Given the description of an element on the screen output the (x, y) to click on. 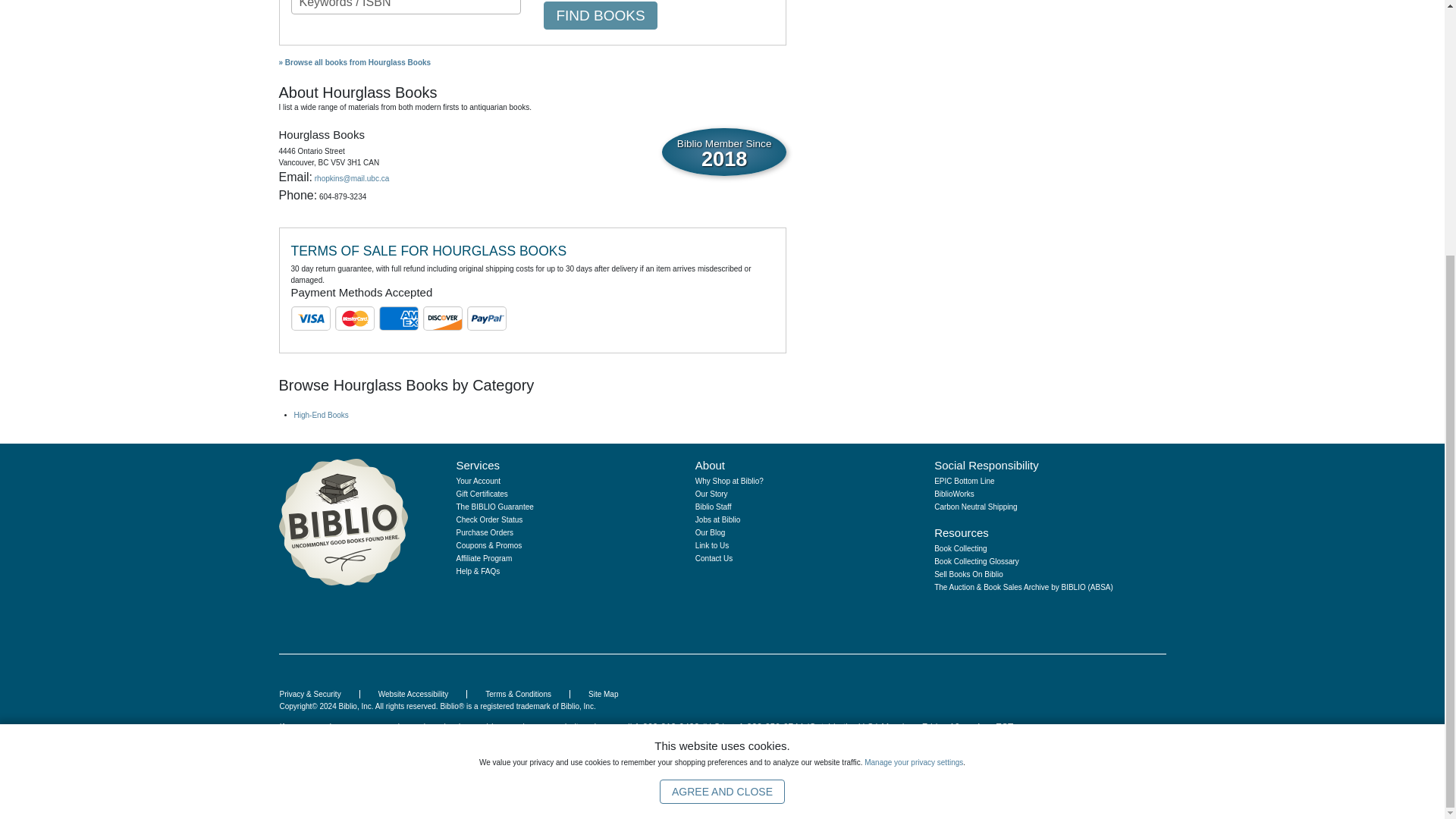
Seller accepts American Express (397, 318)
Visit our Instagram page (957, 613)
AGREE AND CLOSE (721, 429)
Seller accepts Paypal (486, 318)
Seller accepts Visa (310, 318)
Seller accepts Discover (442, 318)
Manage your privacy settings (913, 400)
Seller accepts Mastercard (353, 318)
